Given the description of an element on the screen output the (x, y) to click on. 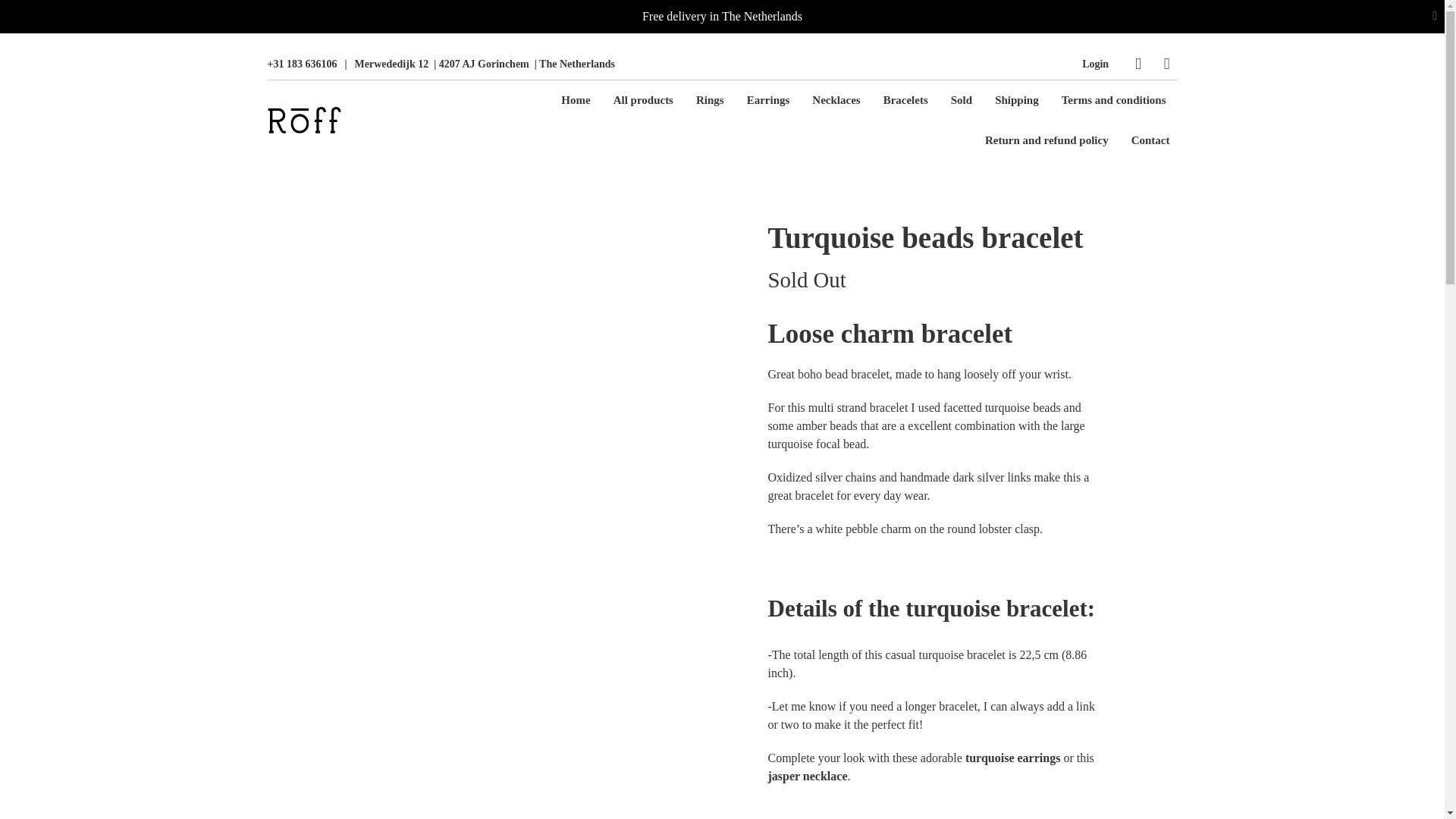
Login (1094, 63)
All products (643, 100)
Terms and conditions (1113, 100)
Earrings (768, 100)
Return and refund policy (1046, 139)
jasper necklace with peridot (807, 775)
turqoise earrings (1010, 757)
Home (574, 100)
Contact (1150, 139)
Necklaces (836, 100)
